Given the description of an element on the screen output the (x, y) to click on. 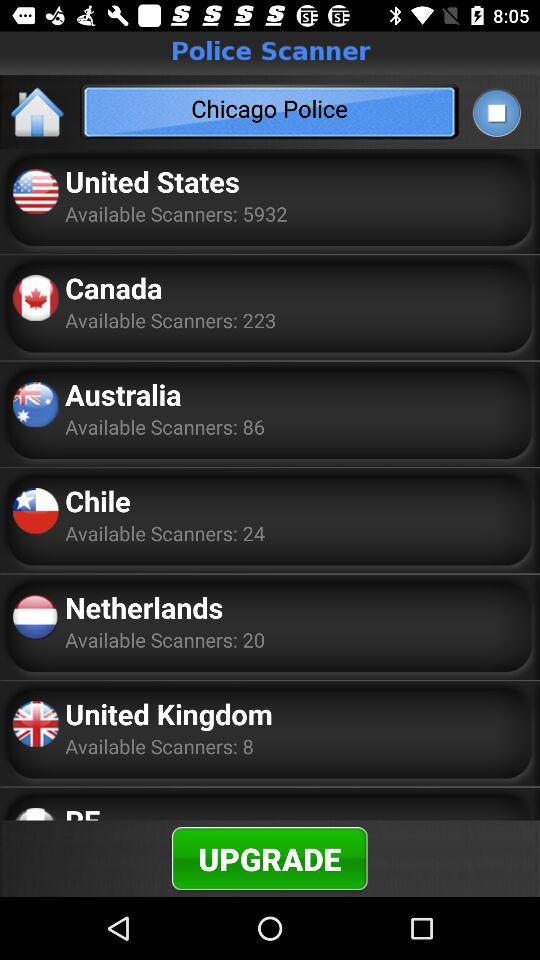
turn off the icon below the available scanners: 223 app (123, 394)
